Given the description of an element on the screen output the (x, y) to click on. 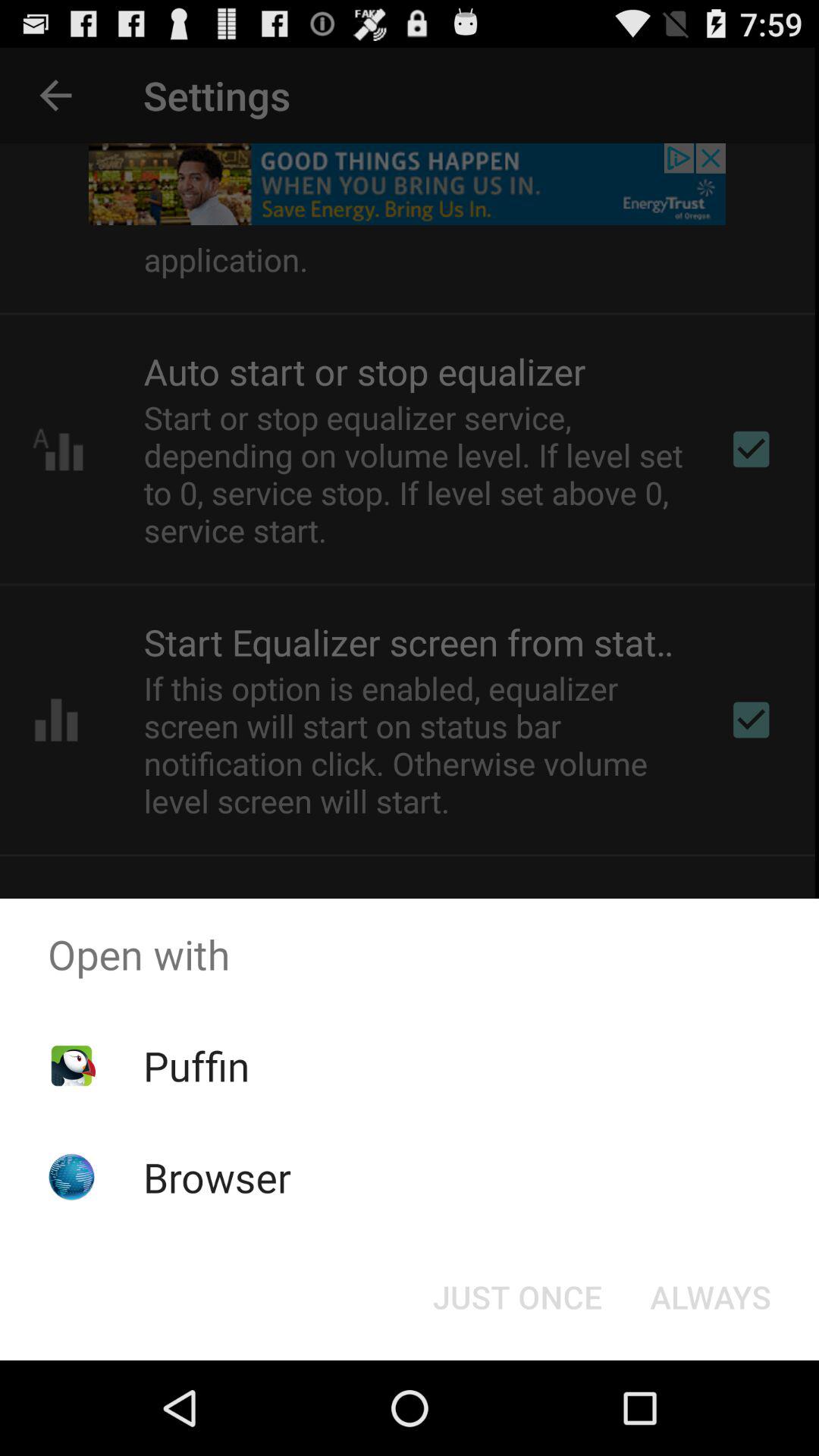
swipe to browser (217, 1176)
